Given the description of an element on the screen output the (x, y) to click on. 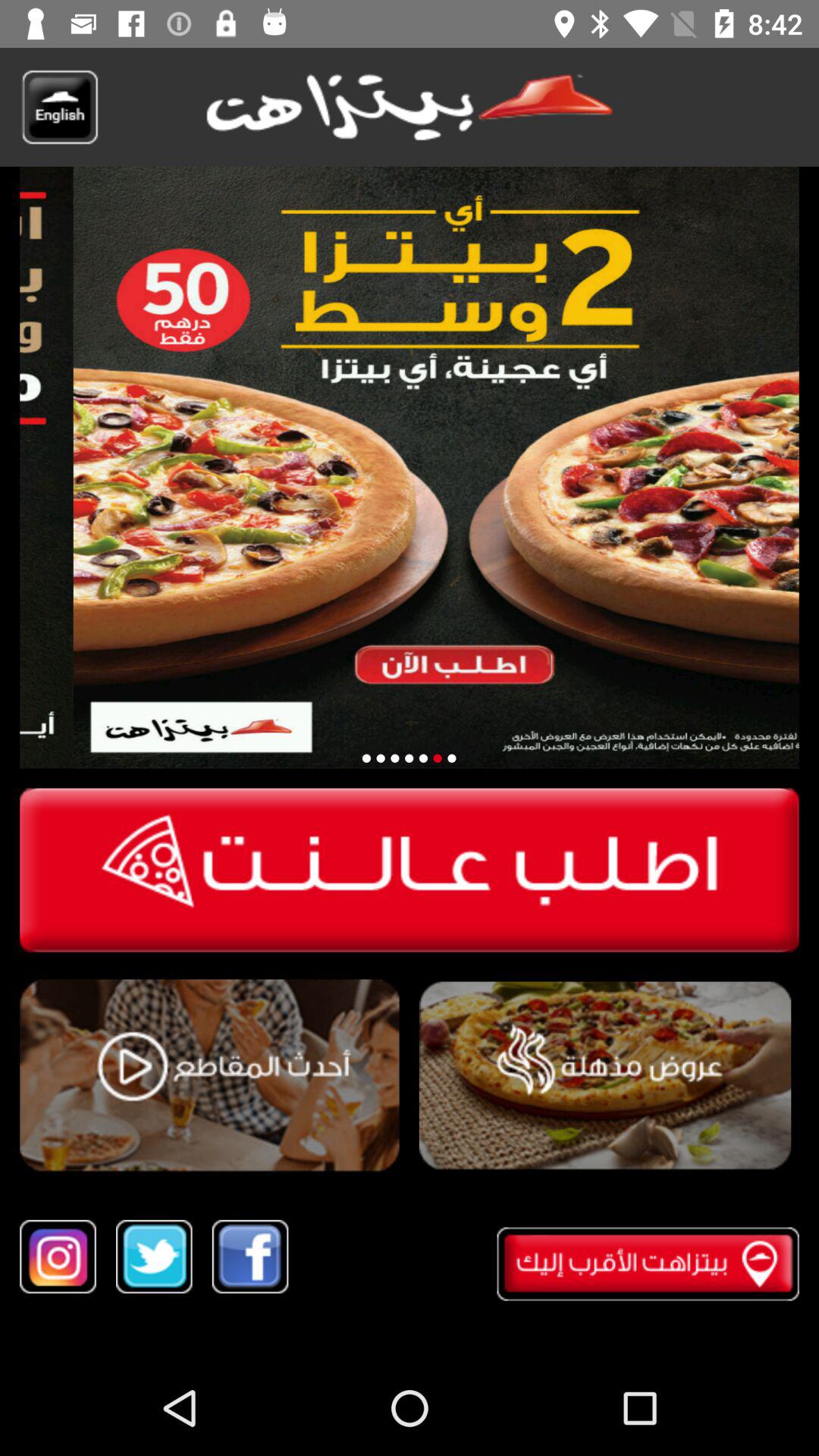
open the item at the top left corner (58, 106)
